Given the description of an element on the screen output the (x, y) to click on. 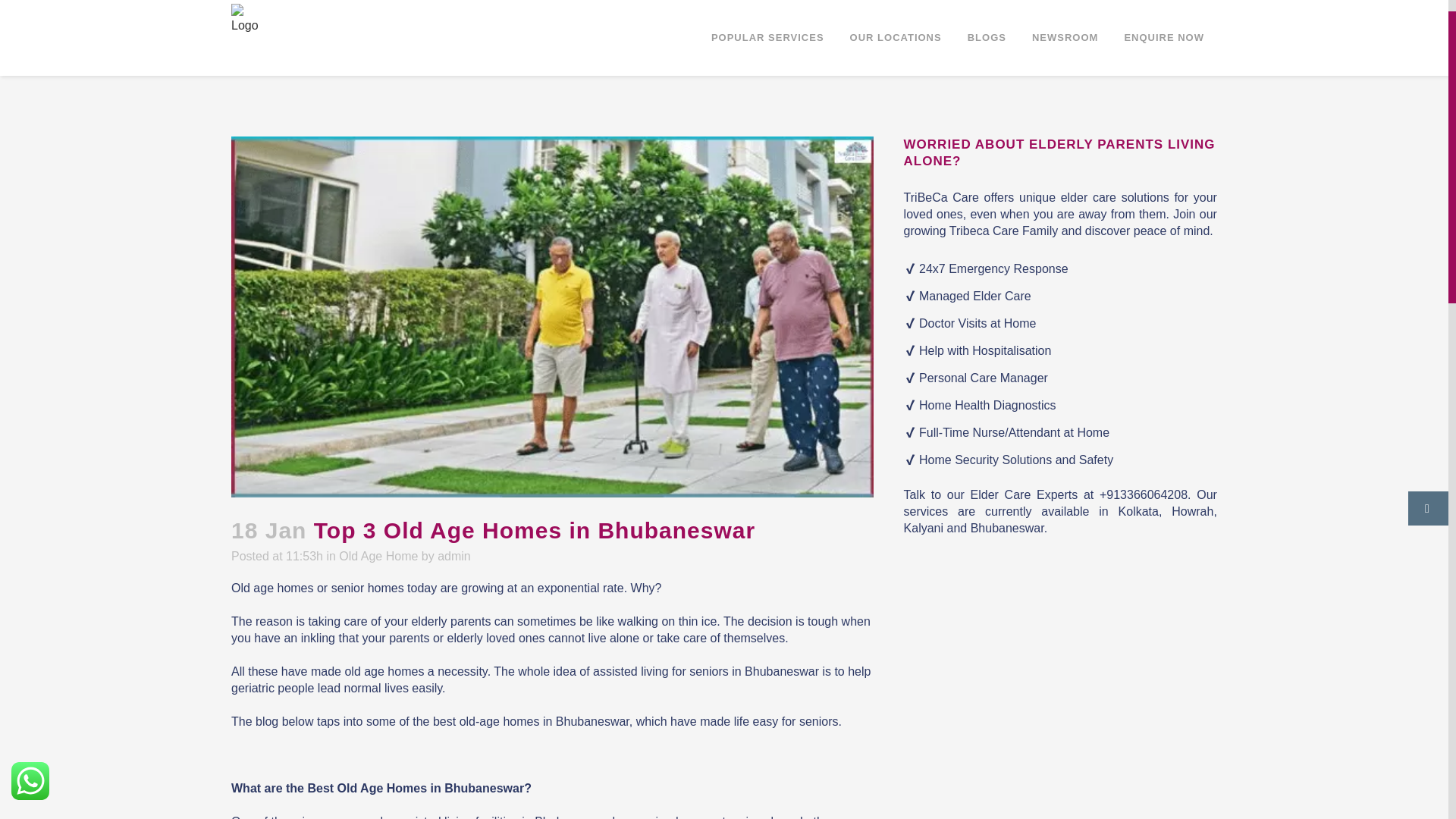
OUR LOCATIONS (896, 38)
ENQUIRE NOW (1163, 38)
NEWSROOM (1064, 38)
POPULAR SERVICES (767, 38)
